Given the description of an element on the screen output the (x, y) to click on. 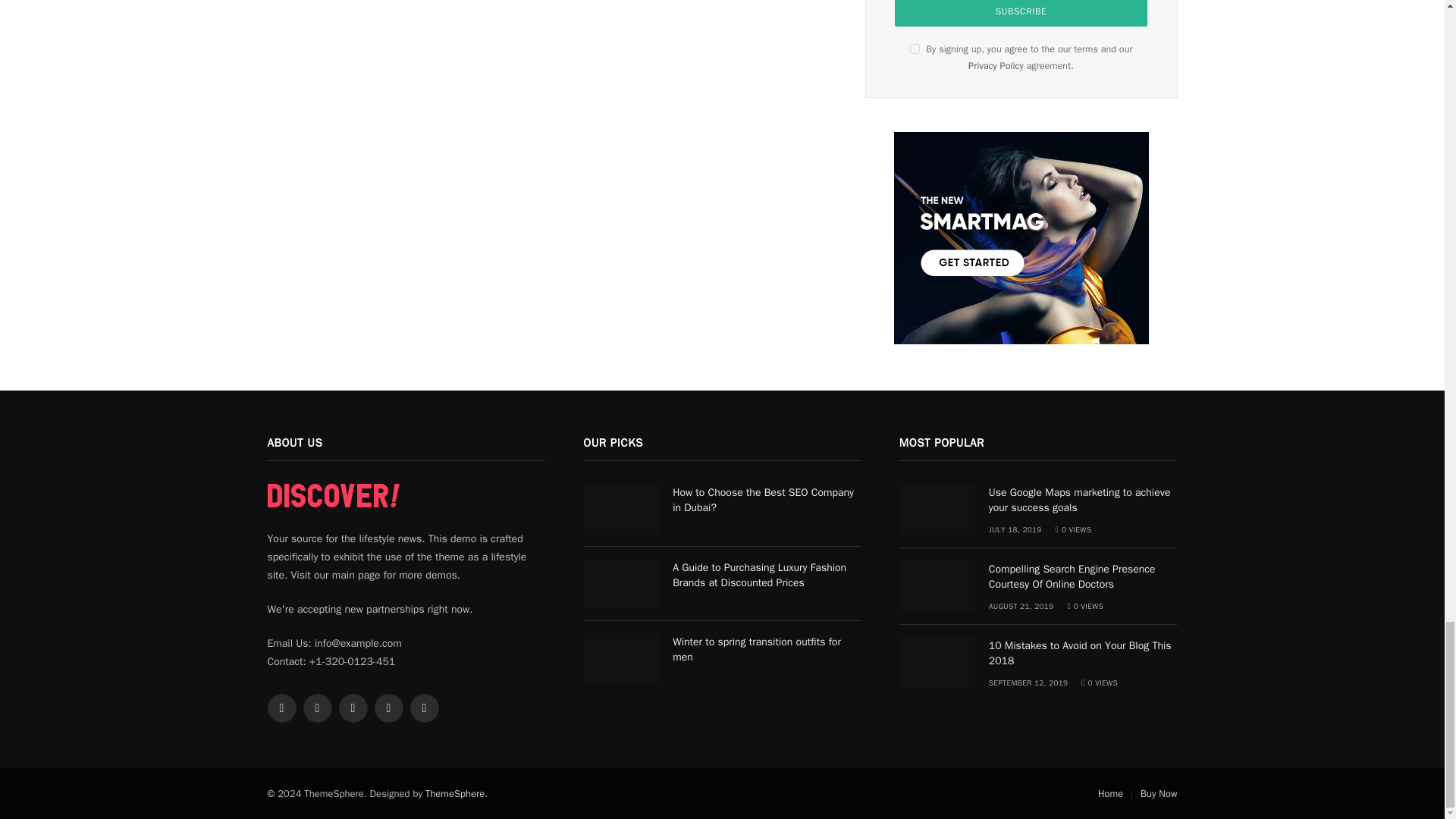
on (915, 49)
Subscribe (1021, 13)
